Given the description of an element on the screen output the (x, y) to click on. 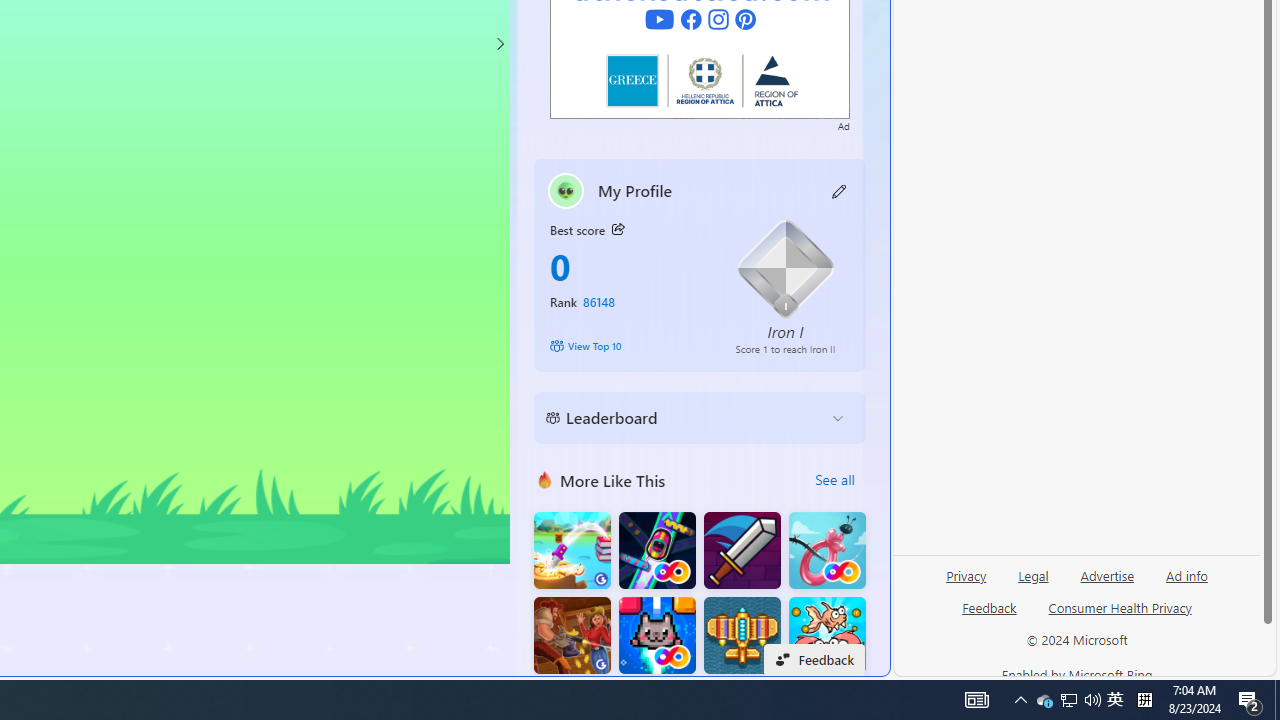
Leaderboard (683, 417)
